Given the description of an element on the screen output the (x, y) to click on. 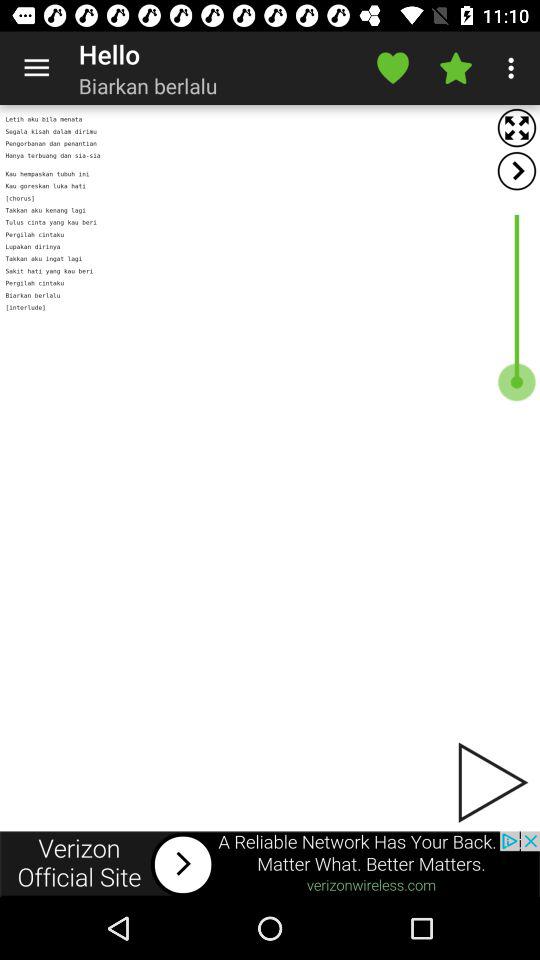
zoom out (516, 127)
